Given the description of an element on the screen output the (x, y) to click on. 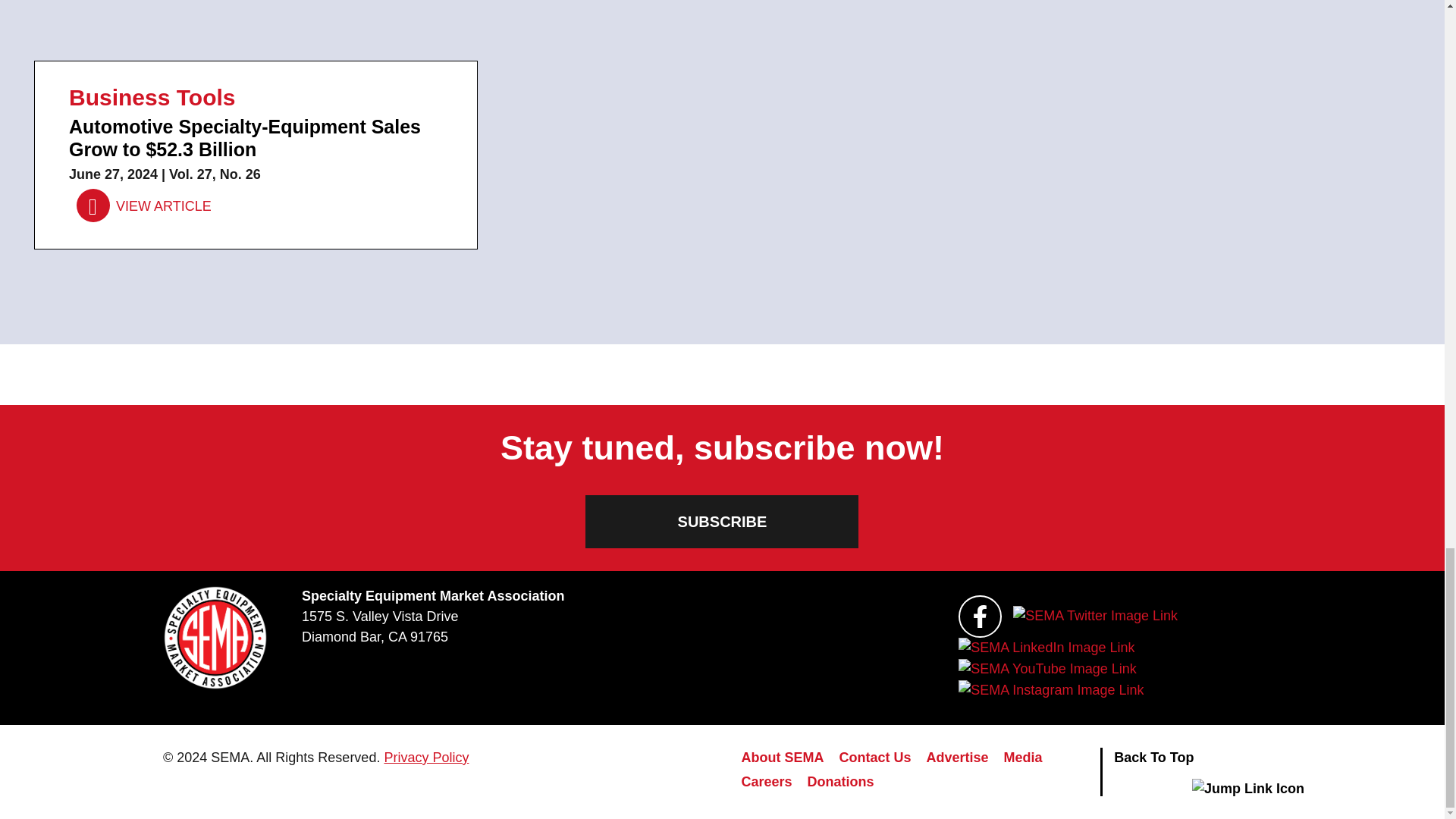
Privacy Policy (426, 757)
SEMA Facebook Link (979, 616)
VIEW ARTICLE (143, 205)
SEMA Twitter Link (1095, 615)
SEMA YouTube Link (1046, 668)
SEMA Instagram Link (1050, 690)
SEMA LinkedIn Link (1046, 648)
SUBSCRIBE (722, 521)
